Given the description of an element on the screen output the (x, y) to click on. 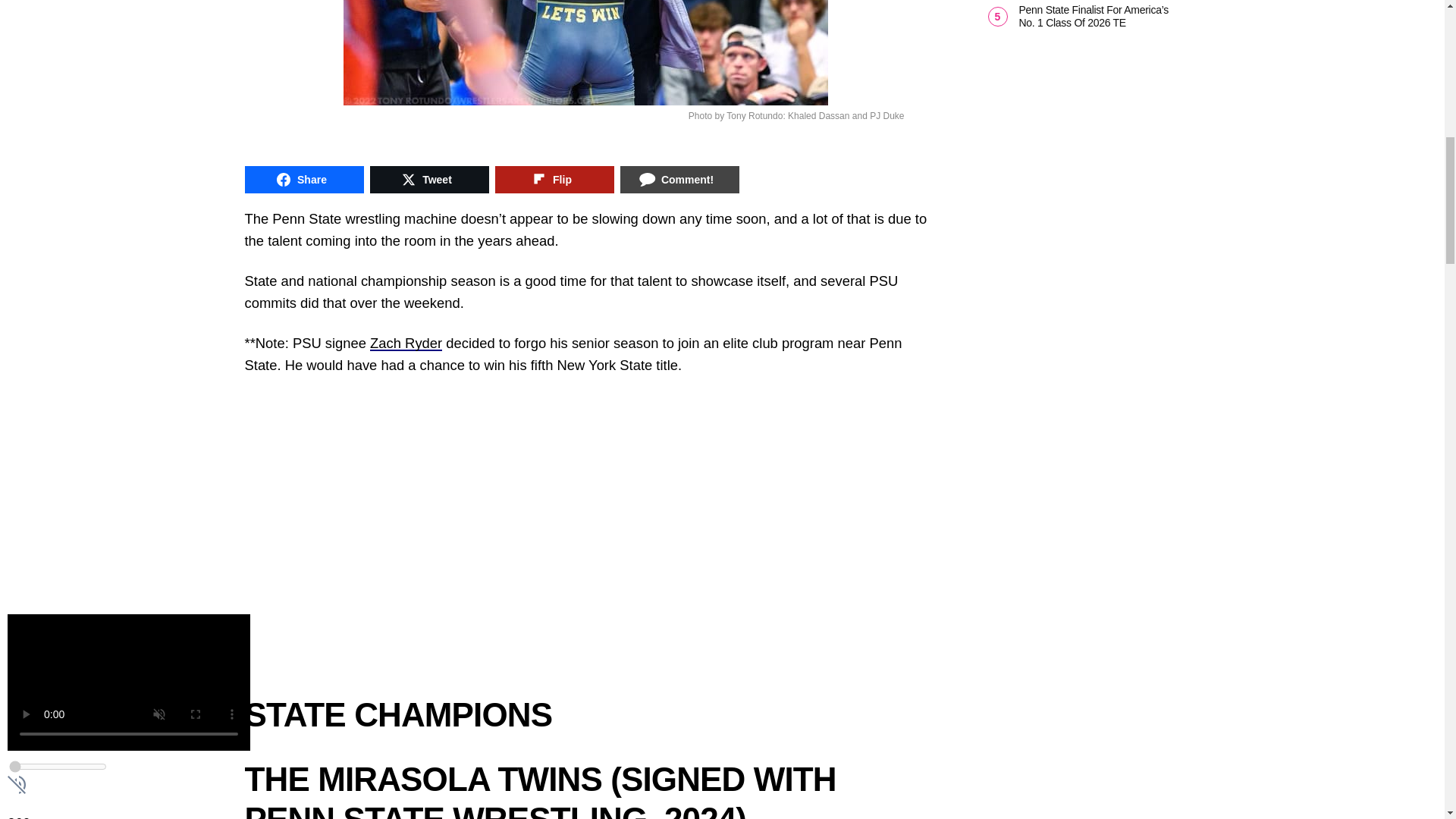
Share on Share (303, 179)
Share on Tweet (429, 179)
Share on Flip (553, 179)
Share on Comment! (679, 179)
